Given the description of an element on the screen output the (x, y) to click on. 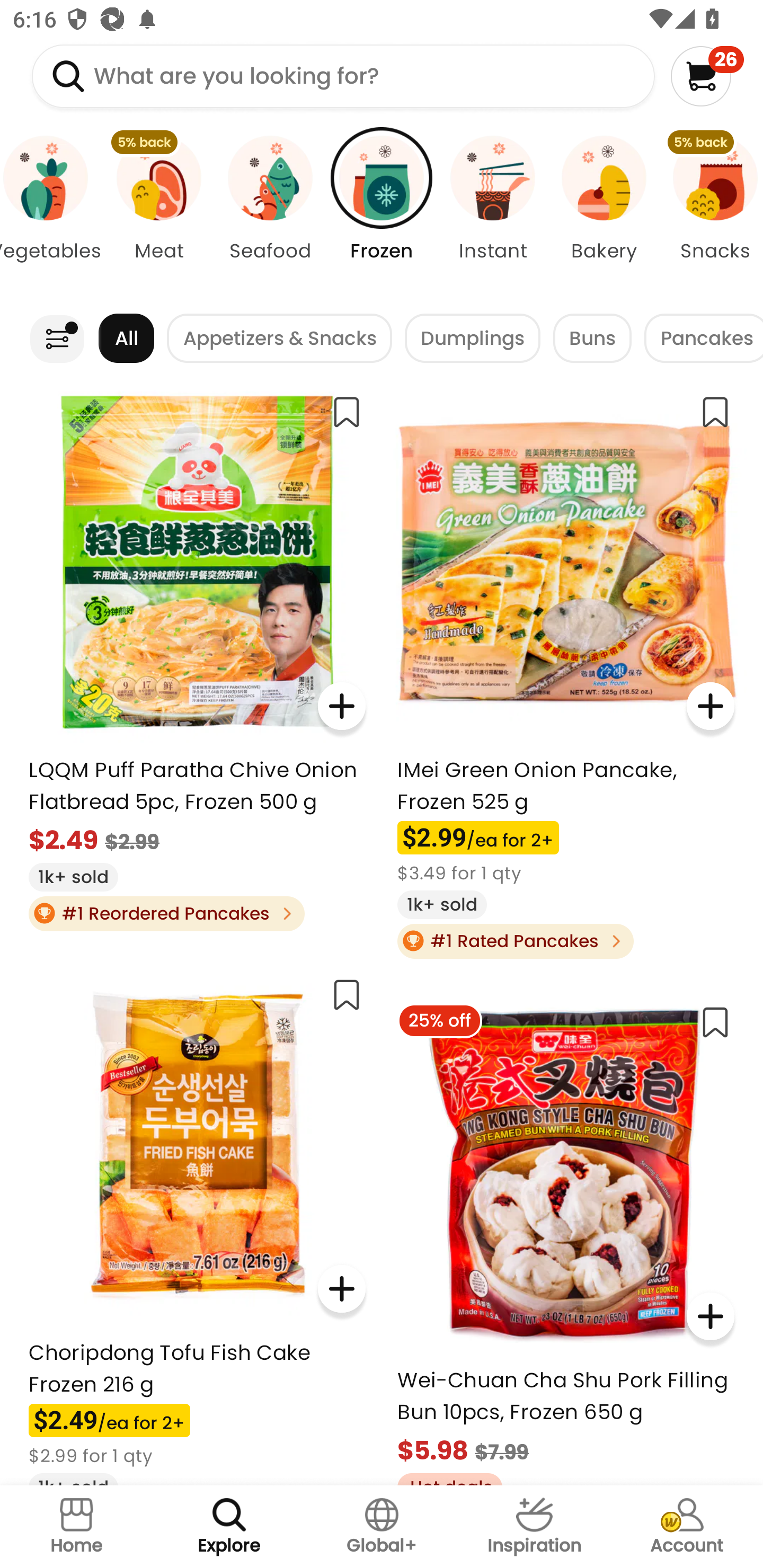
What are you looking for? (343, 75)
26 (706, 75)
Vegetables (51, 214)
5% back Meat (158, 214)
Seafood (269, 214)
Frozen (381, 214)
Instant (492, 214)
Bakery (603, 214)
5% back Snacks (711, 214)
All (126, 337)
Appetizers & Snacks (279, 337)
Dumplings (472, 337)
Buns (592, 337)
Pancakes (703, 337)
Home (76, 1526)
Explore (228, 1526)
Global+ (381, 1526)
Inspiration (533, 1526)
Account (686, 1526)
